Given the description of an element on the screen output the (x, y) to click on. 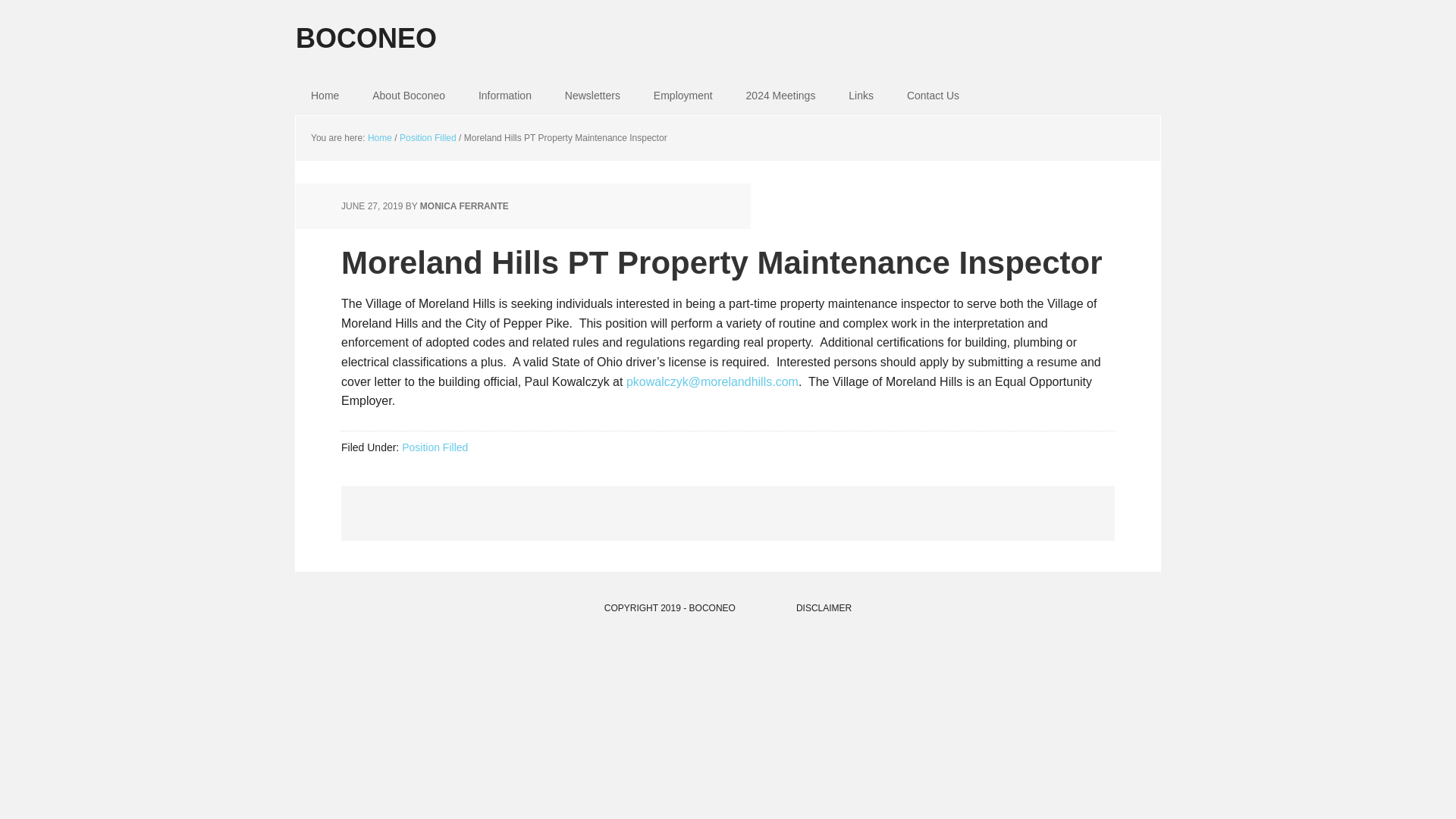
Home (324, 96)
Information (505, 96)
BOCONEO (727, 27)
About Boconeo (408, 96)
Newsletters (592, 96)
